Given the description of an element on the screen output the (x, y) to click on. 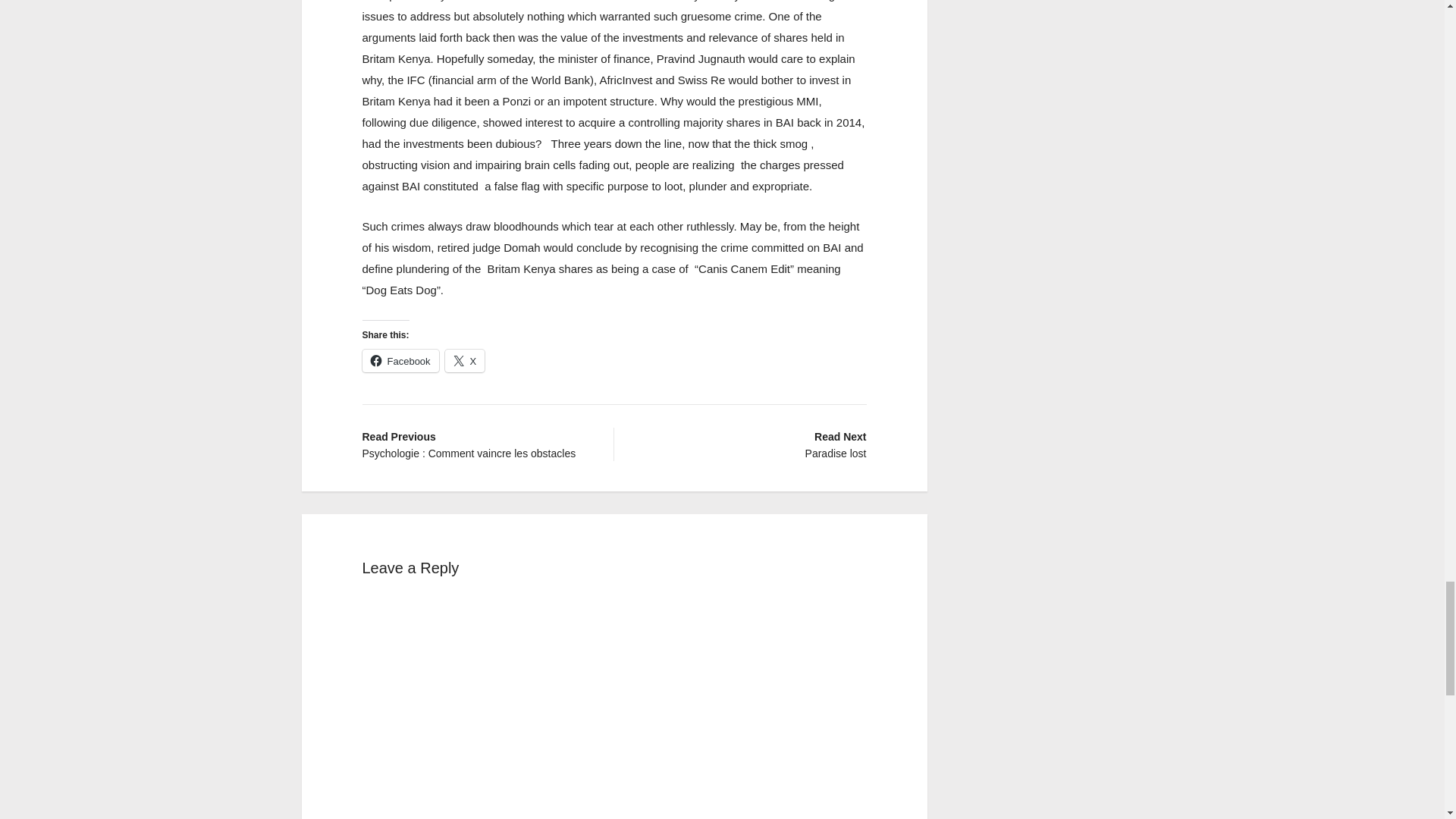
Click to share on Facebook (400, 360)
X (464, 360)
Facebook (400, 360)
Click to share on X (476, 444)
Comment Form (751, 444)
